Given the description of an element on the screen output the (x, y) to click on. 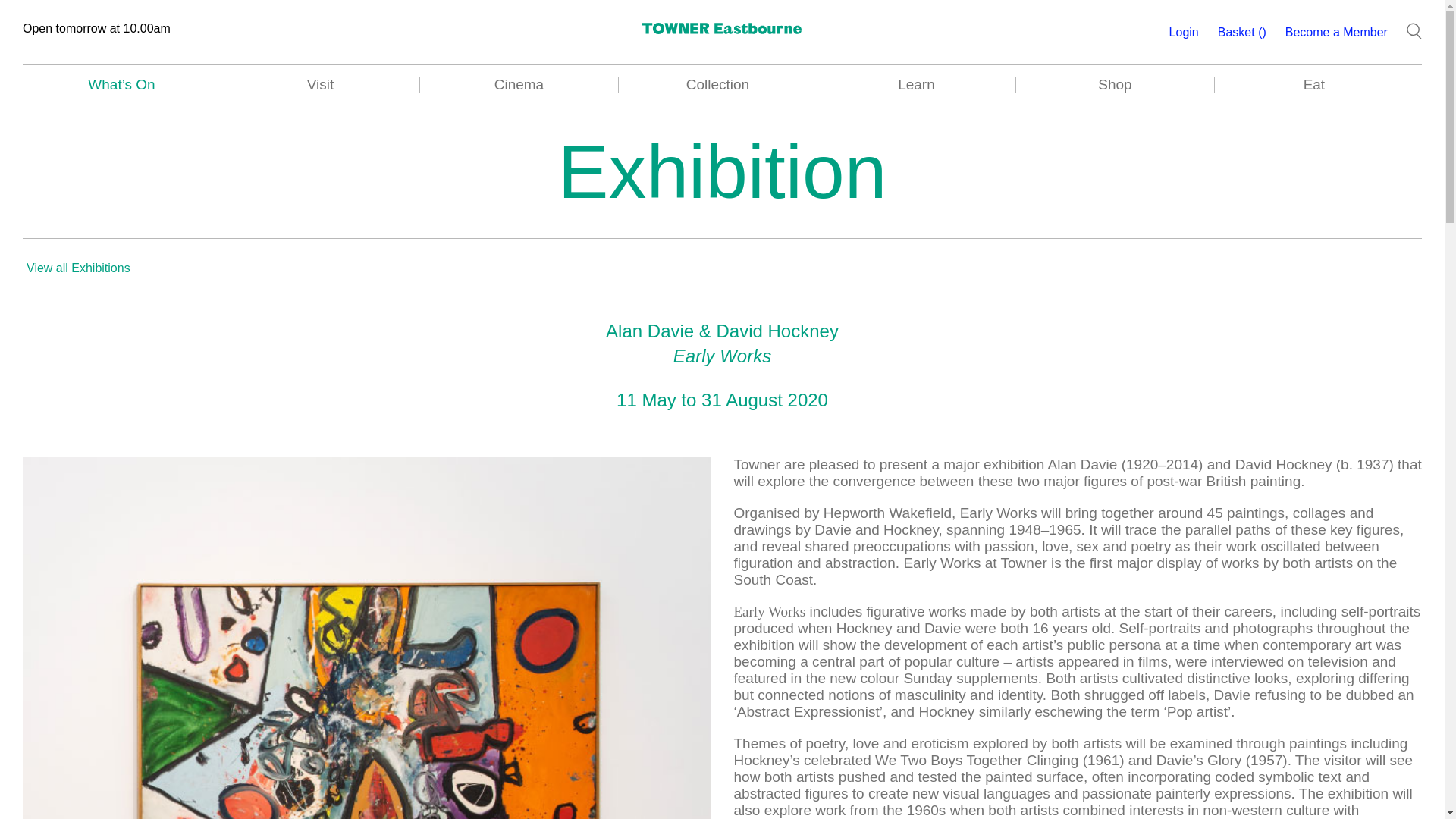
Login (1183, 31)
Open tomorrow at 10.00am (96, 28)
Collection (717, 84)
Become a Member (1336, 31)
Eat (1313, 84)
Visit (320, 84)
Learn (916, 84)
Shop (1115, 84)
View all Exhibitions (78, 268)
Cinema (519, 84)
